Given the description of an element on the screen output the (x, y) to click on. 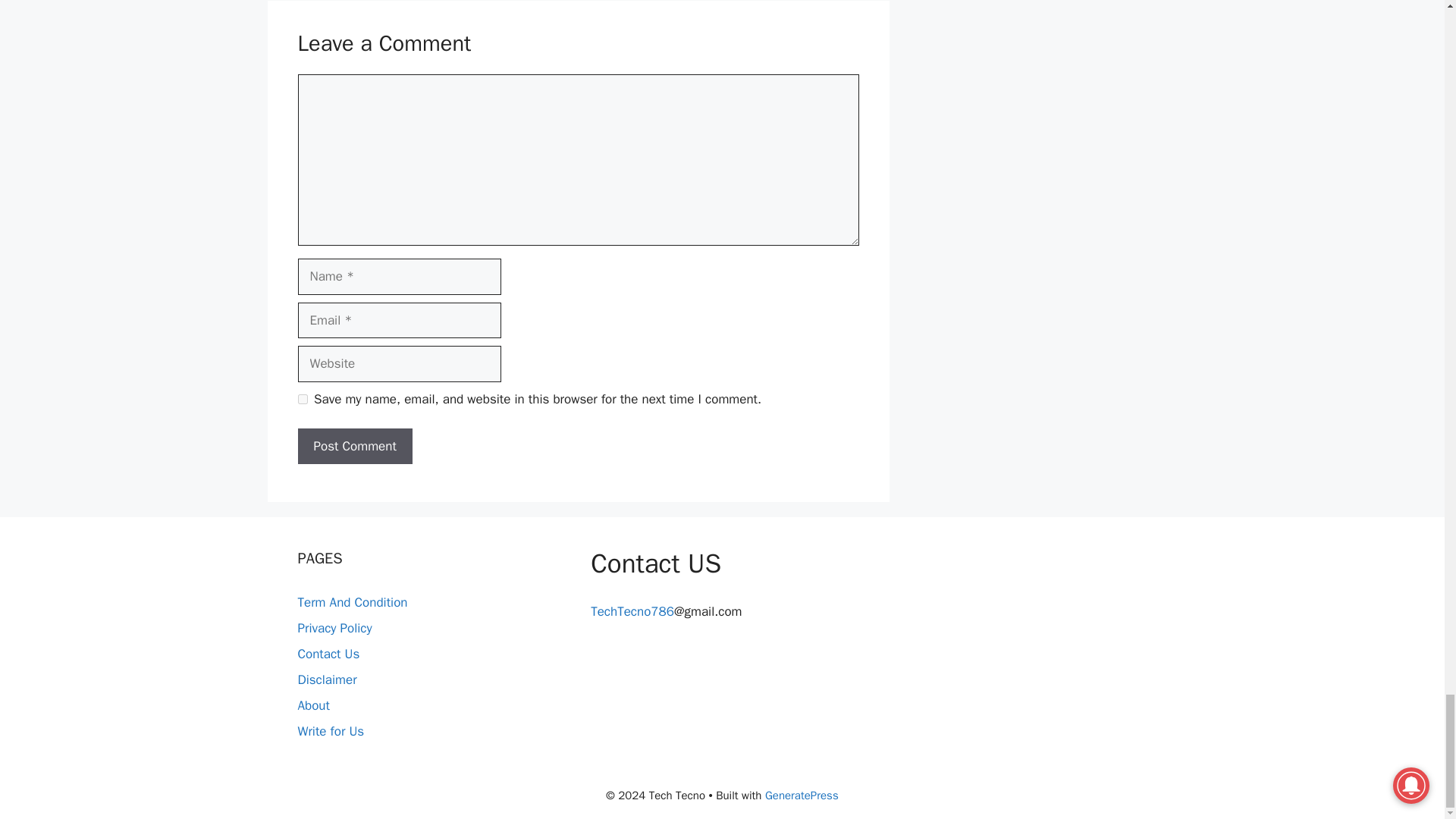
yes (302, 398)
Post Comment (354, 446)
Post Comment (354, 446)
